Given the description of an element on the screen output the (x, y) to click on. 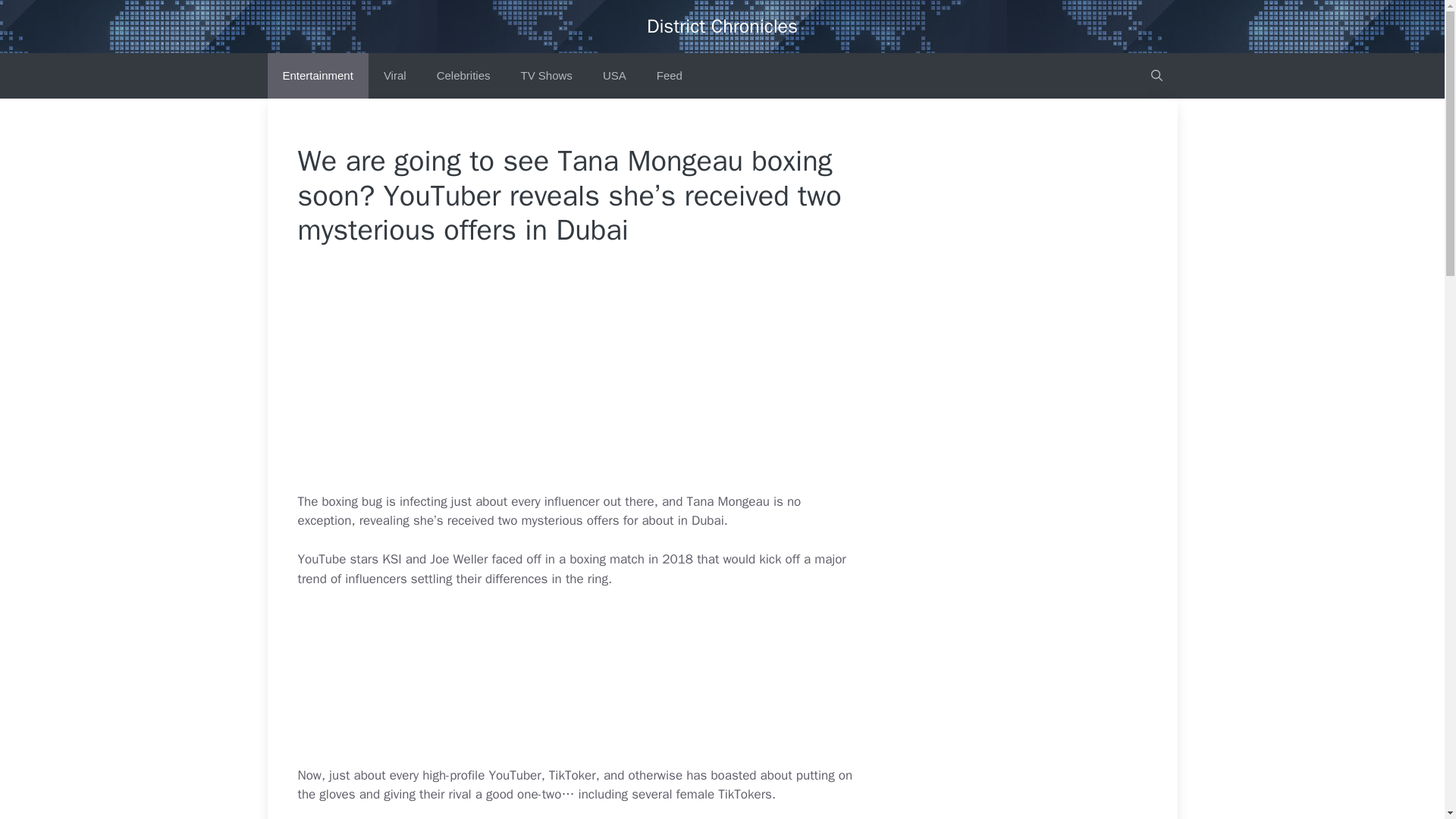
Advertisement (611, 379)
Viral (395, 75)
USA (615, 75)
Entertainment (317, 75)
Celebrities (463, 75)
TV Shows (546, 75)
Advertisement (611, 684)
District Chronicles (721, 25)
Feed (669, 75)
